Given the description of an element on the screen output the (x, y) to click on. 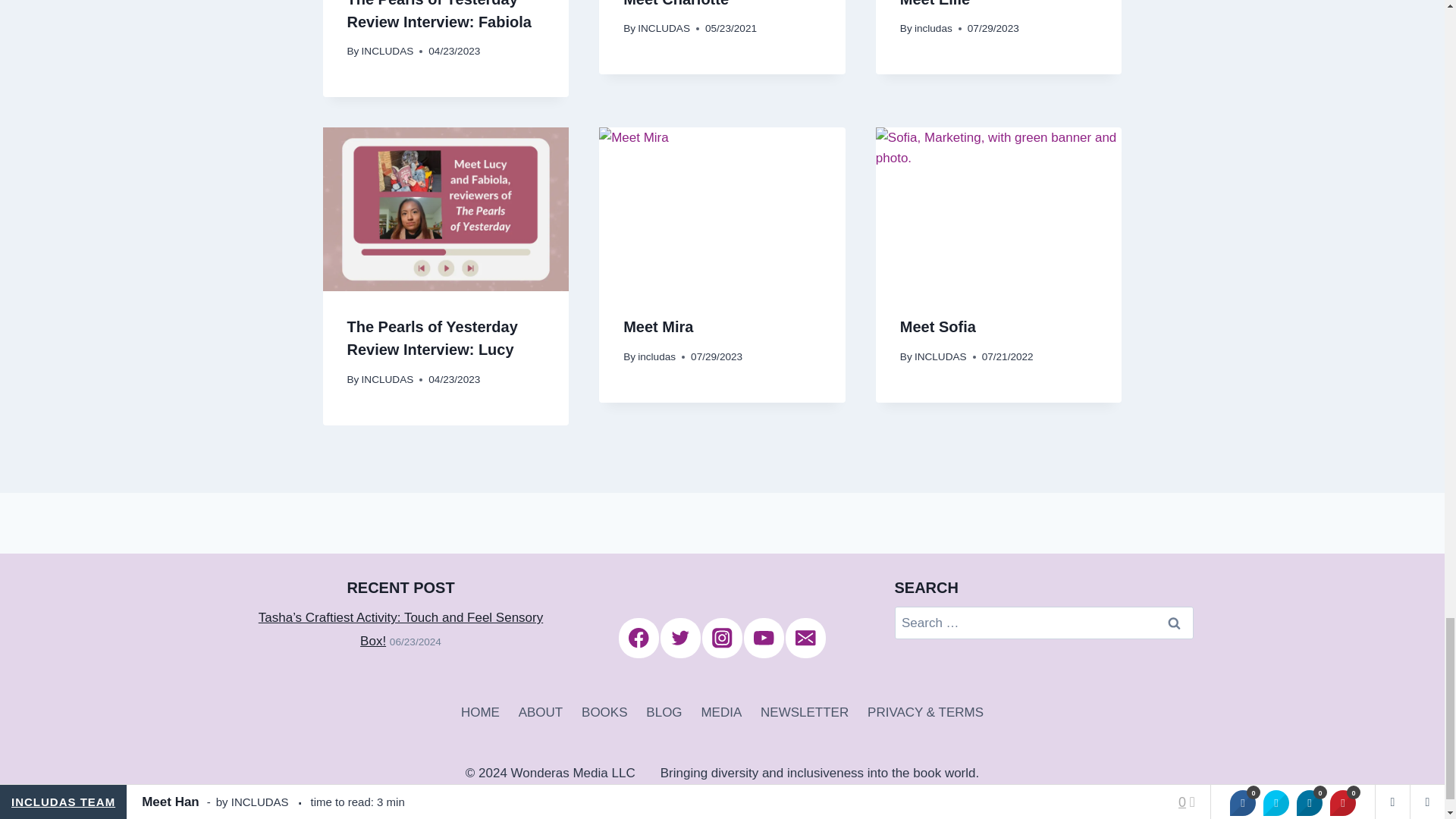
includas (933, 28)
Meet Charlotte (676, 3)
Meet Ellie (934, 3)
The Pearls of Yesterday Review Interview: Fabiola (439, 15)
INCLUDAS (663, 28)
INCLUDAS (387, 50)
Search (1174, 622)
Search (1174, 622)
